Given the description of an element on the screen output the (x, y) to click on. 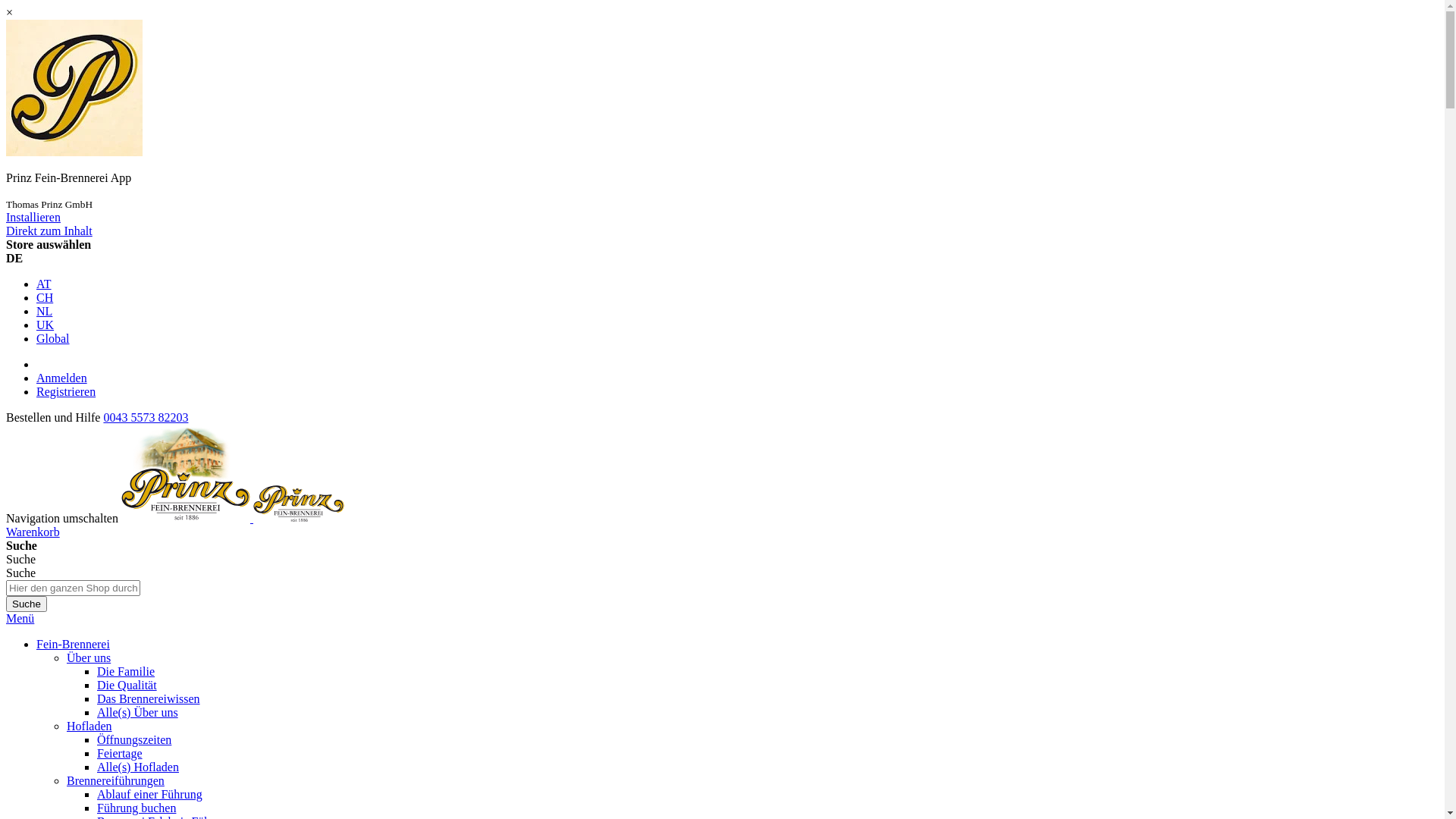
Registrieren Element type: text (65, 391)
0043 5573 82203 Element type: text (145, 417)
Hofladen Element type: text (89, 725)
Global Element type: text (52, 338)
Anmelden Element type: text (61, 377)
Die Familie Element type: text (125, 671)
AT Element type: text (43, 283)
Suche Element type: text (20, 558)
Alle(s) Hofladen Element type: text (137, 766)
Das Brennereiwissen Element type: text (148, 698)
Installieren Element type: text (33, 216)
NL Element type: text (44, 310)
Direkt zum Inhalt Element type: text (49, 230)
Suche Element type: text (26, 603)
Warenkorb Element type: text (32, 531)
CH Element type: text (44, 297)
Feiertage Element type: text (119, 752)
UK Element type: text (44, 324)
Fein-Brennerei Element type: text (72, 643)
